Given the description of an element on the screen output the (x, y) to click on. 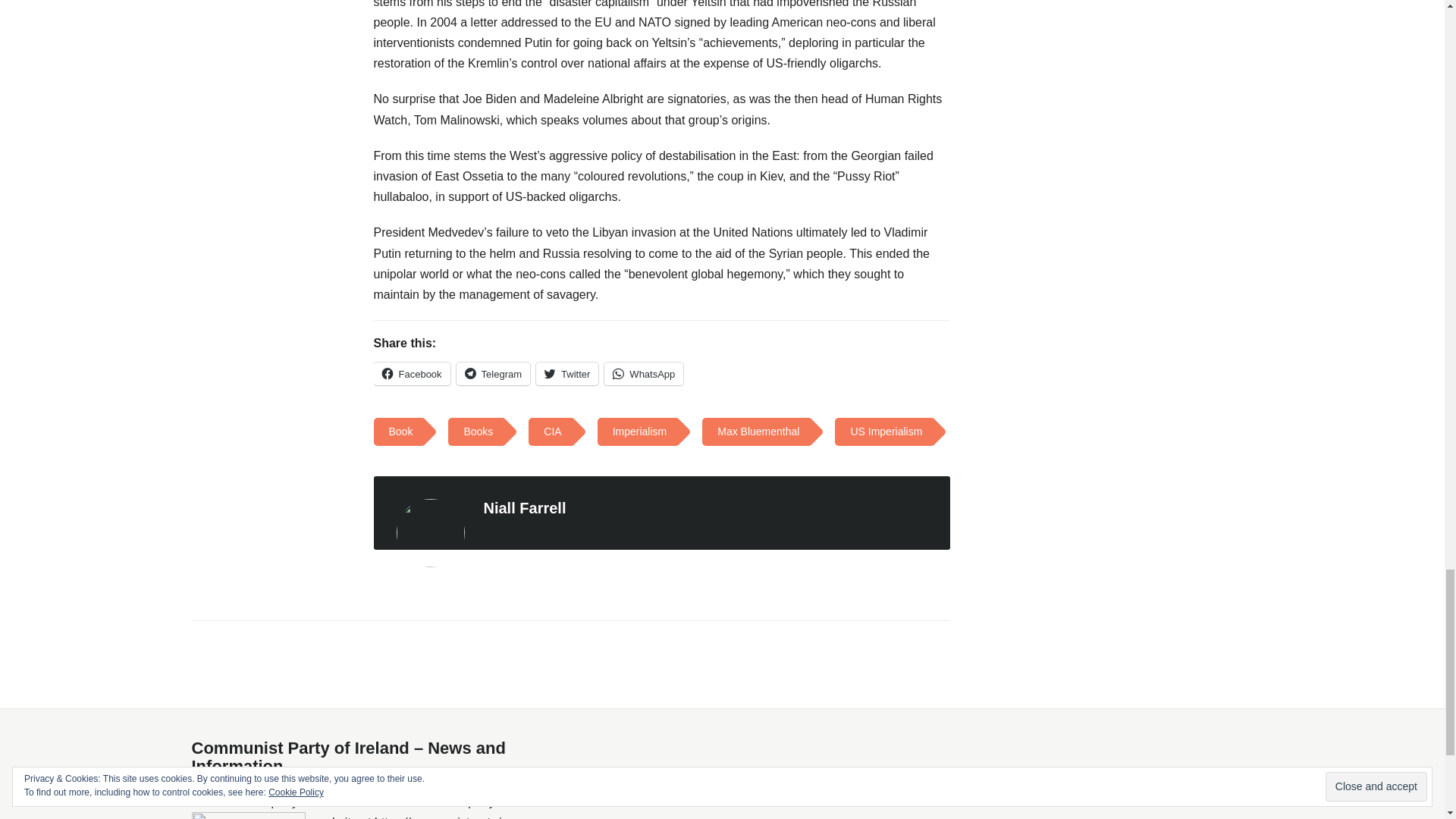
Click to share on Twitter (566, 373)
Posts by Niall Farrell (524, 507)
Click to share on Telegram (493, 373)
Click to share on WhatsApp (643, 373)
Click to share on Facebook (410, 373)
